Given the description of an element on the screen output the (x, y) to click on. 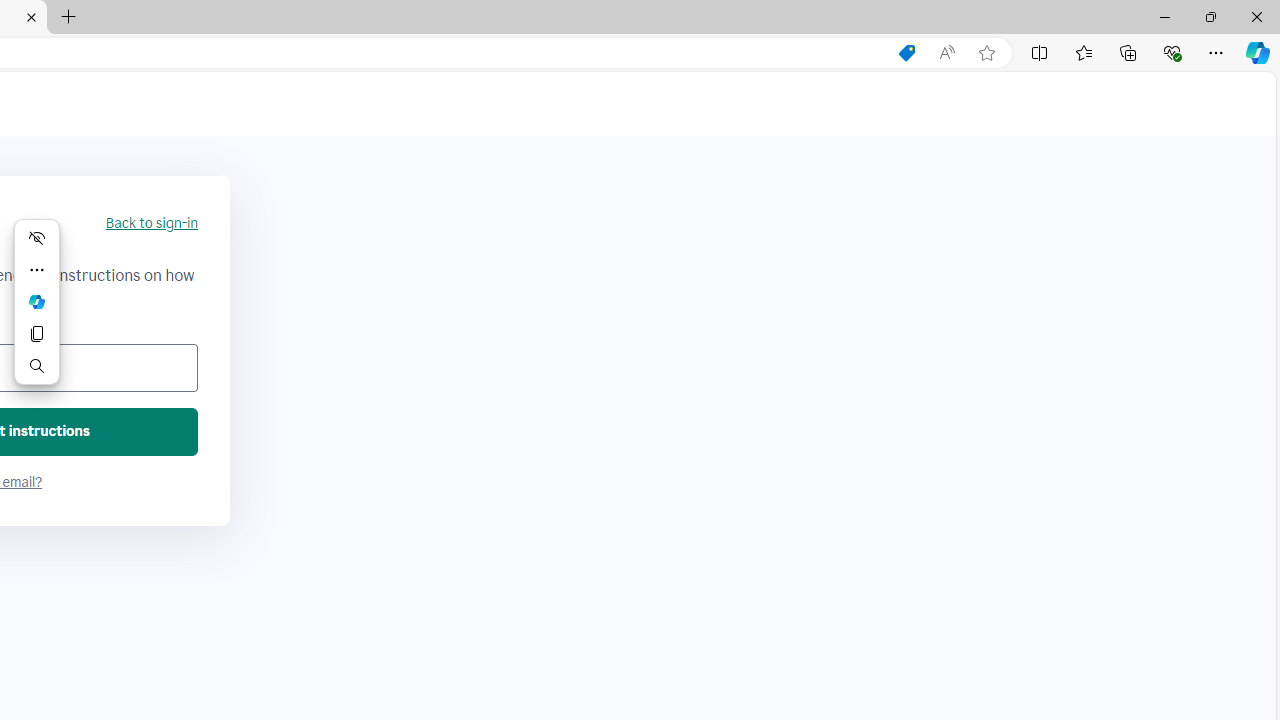
Ask Copilot (36, 301)
Hide menu (36, 237)
Mini menu on text selection (36, 301)
More actions (36, 269)
Copy (36, 333)
